Given the description of an element on the screen output the (x, y) to click on. 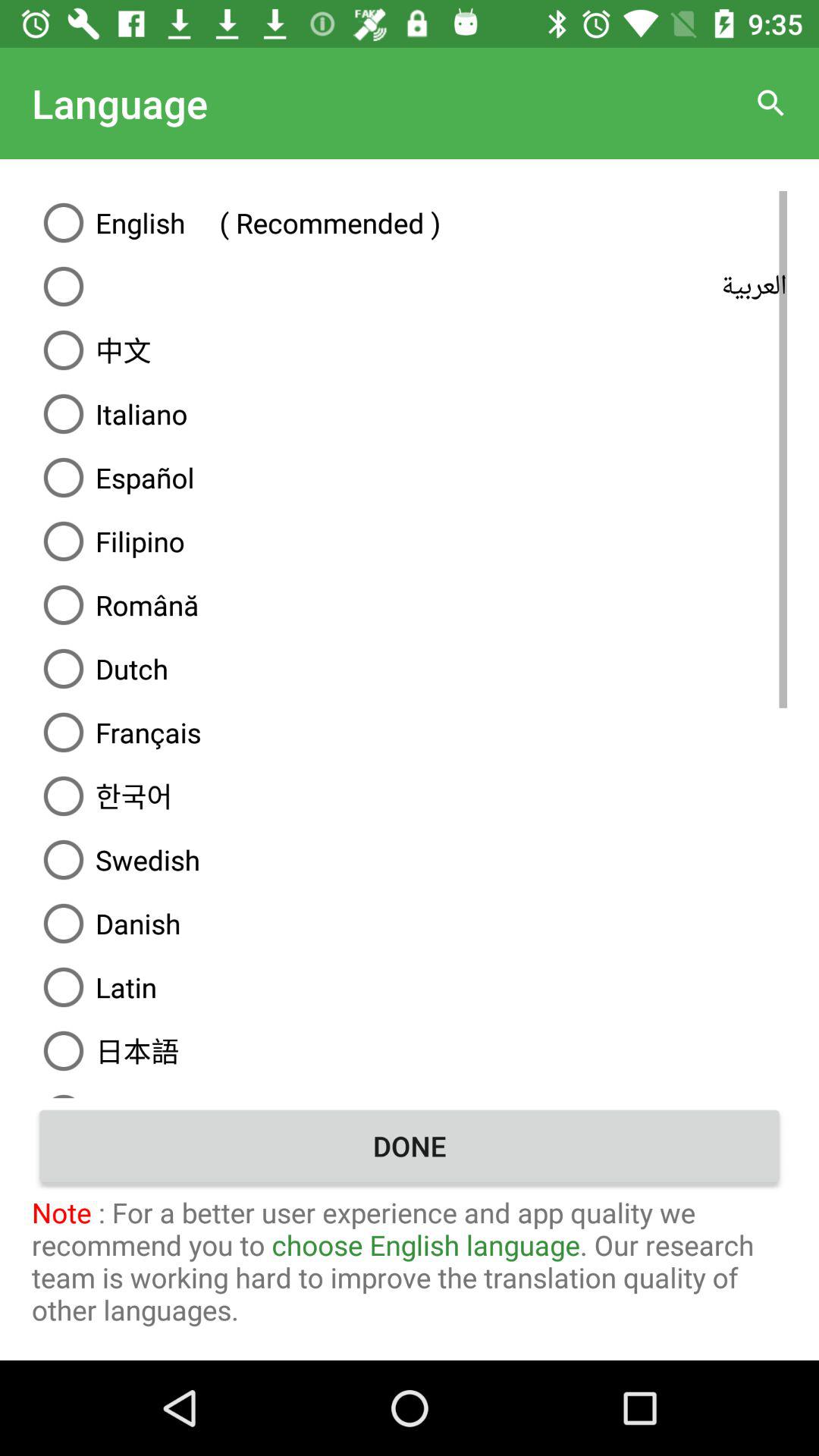
tap item at the top right corner (771, 103)
